Given the description of an element on the screen output the (x, y) to click on. 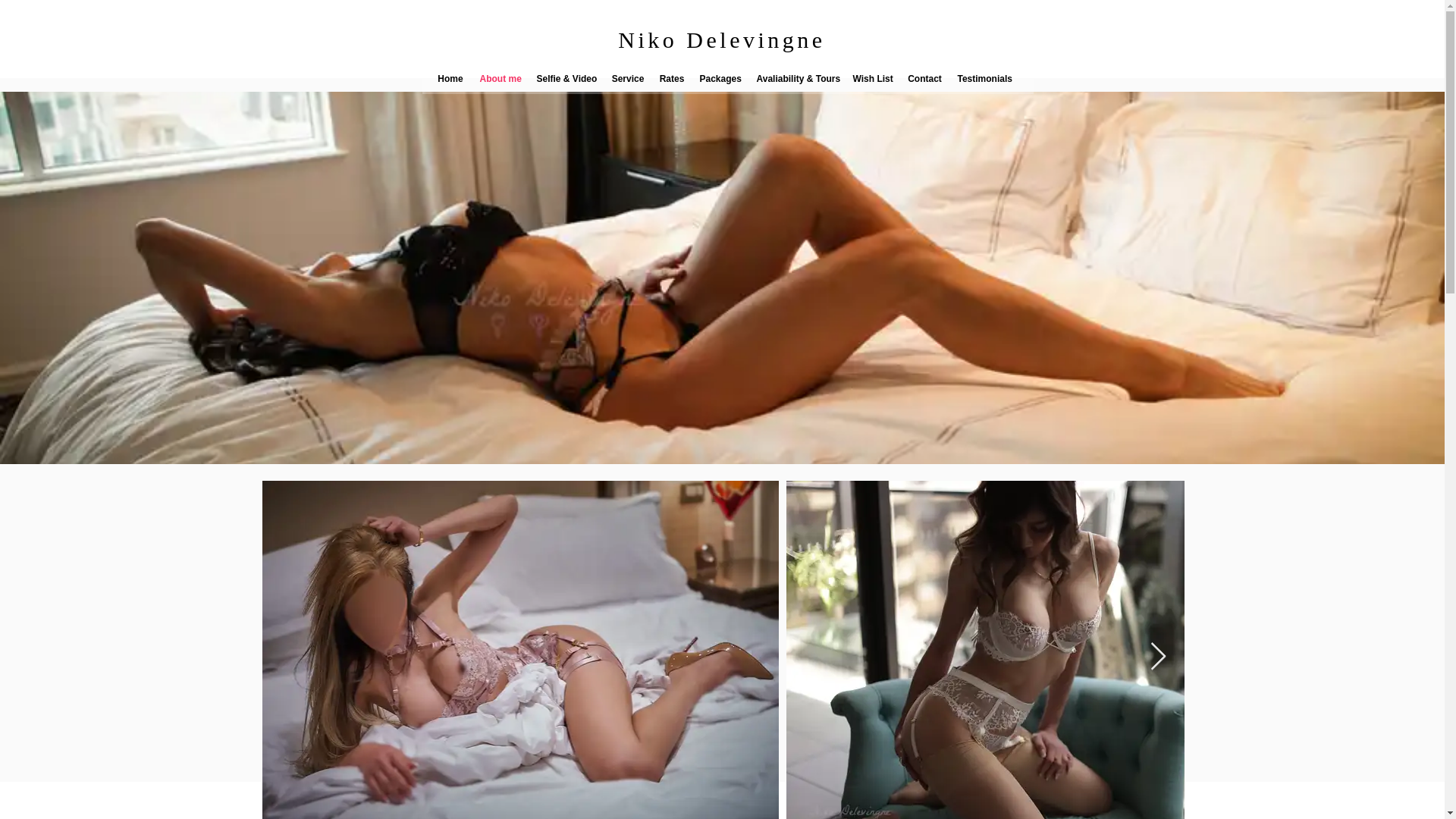
About me (499, 78)
Packages (719, 78)
Home (450, 78)
Wish List (871, 78)
Service (627, 78)
Rates (672, 78)
Contact (924, 78)
Testimonials (981, 78)
